Given the description of an element on the screen output the (x, y) to click on. 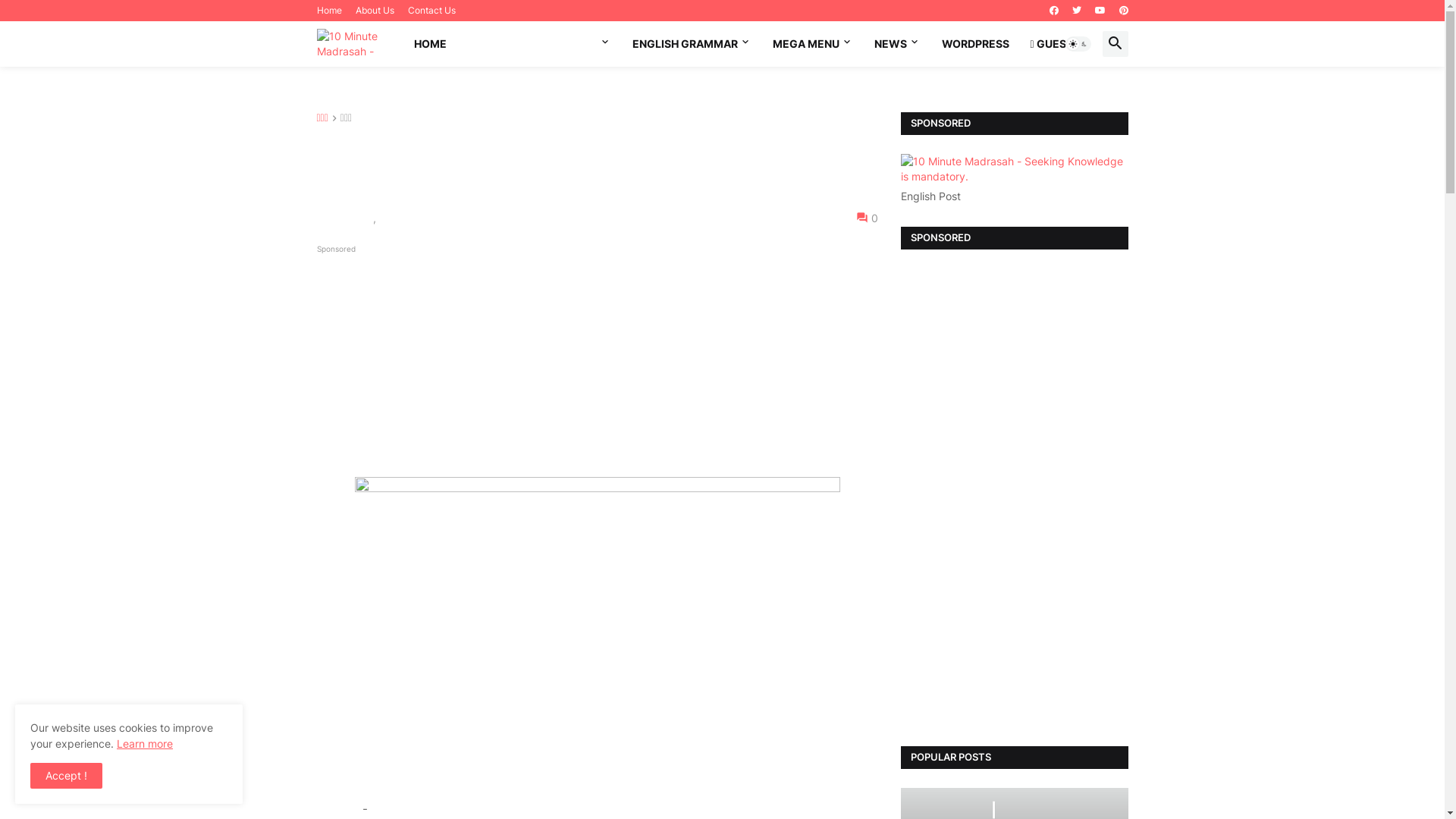
Contact Us Element type: text (431, 10)
10 Minute Madrasah - Seeking Knowledge is mandatory. Element type: hover (354, 43)
facebook Element type: hover (1053, 10)
About Us Element type: text (373, 10)
pinterest Element type: hover (1123, 10)
ENGLISH GRAMMAR Element type: text (691, 43)
twitter Element type: hover (1076, 10)
Home Element type: text (329, 10)
Advertisement Element type: hover (597, 327)
Learn more Element type: text (144, 743)
MEGA MENU Element type: text (811, 43)
WORDPRESS Element type: text (975, 43)
HOME Element type: text (430, 43)
NEWS Element type: text (896, 43)
youtube Element type: hover (1100, 10)
Advertisement Element type: hover (1014, 495)
Accept ! Element type: text (66, 775)
